Given the description of an element on the screen output the (x, y) to click on. 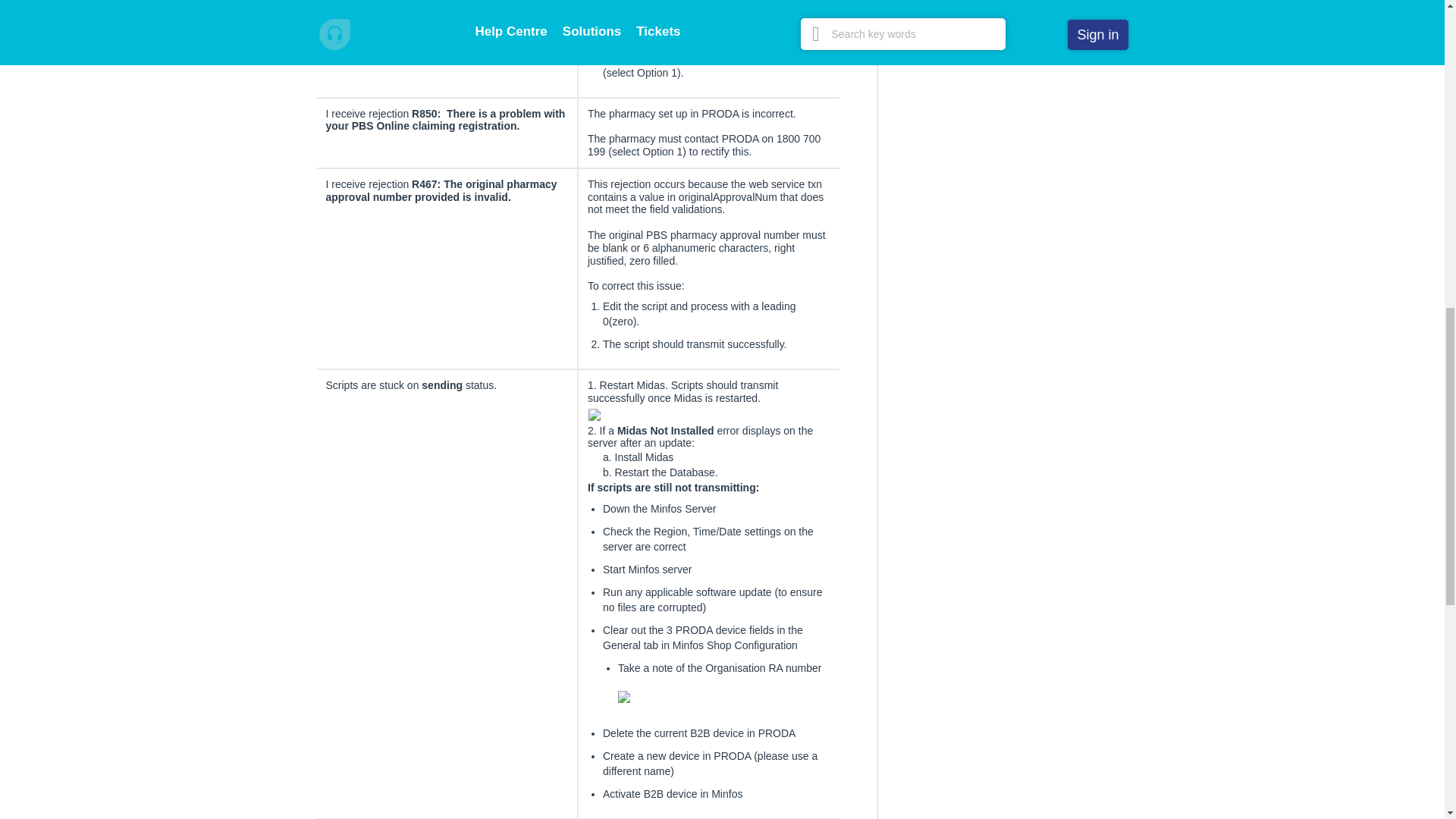
this article (747, 21)
